Given the description of an element on the screen output the (x, y) to click on. 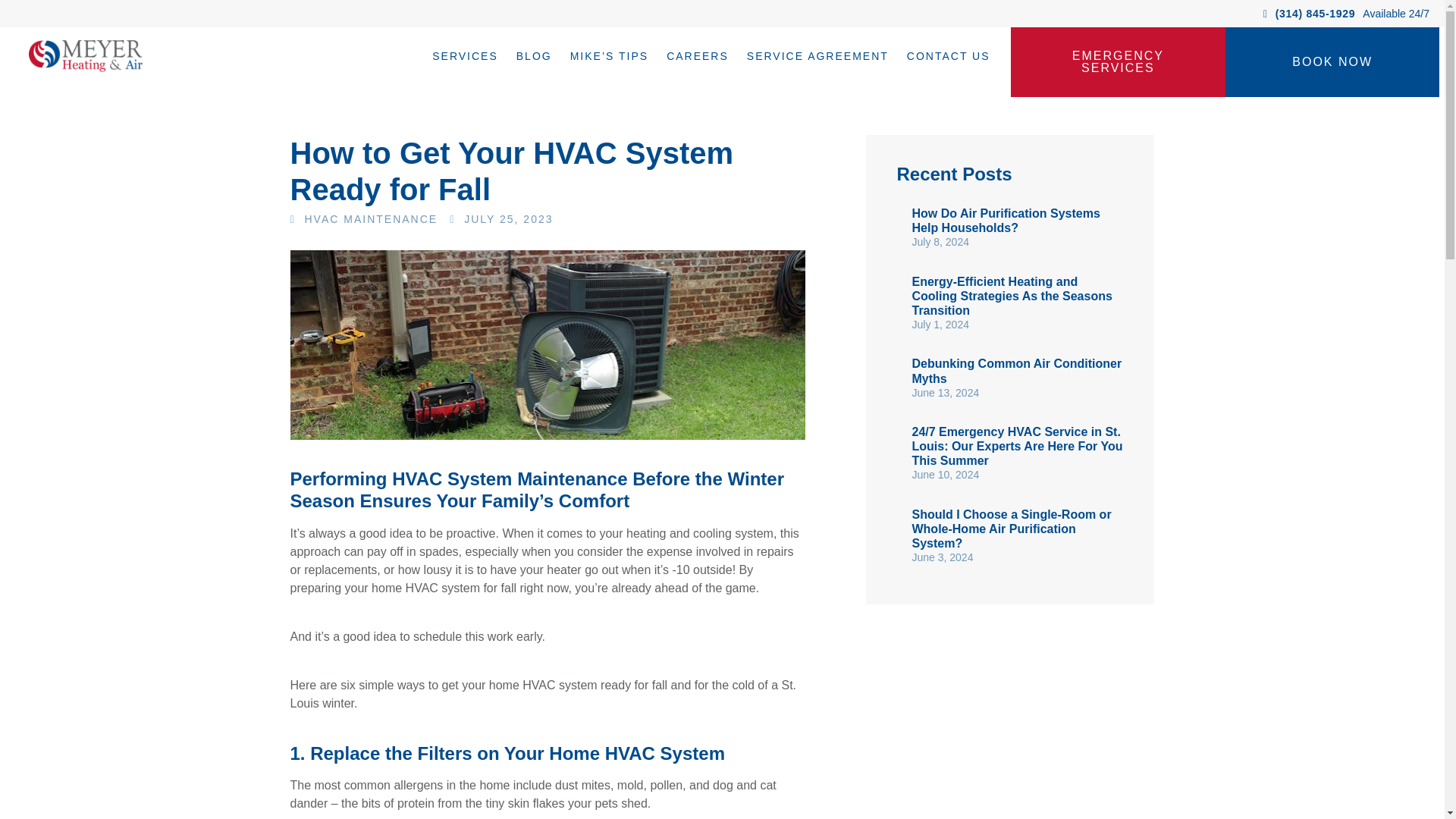
SERVICE AGREEMENT (818, 55)
EMERGENCY SERVICES (1117, 62)
CAREERS (698, 55)
CONTACT US (948, 55)
BOOK NOW (1331, 61)
BLOG (533, 55)
SERVICES (464, 55)
